Given the description of an element on the screen output the (x, y) to click on. 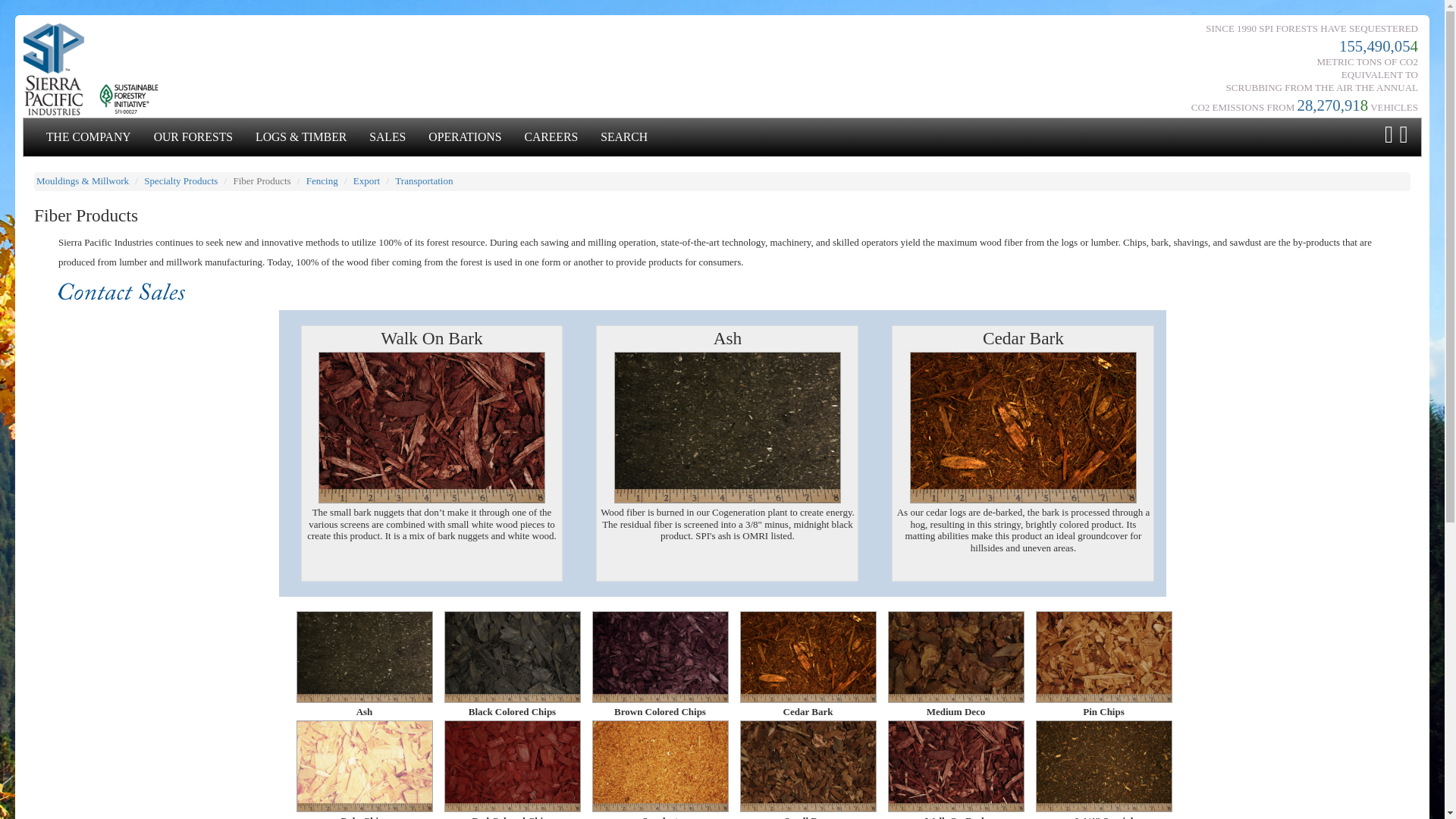
SALES (387, 136)
OUR FORESTS (193, 136)
THE COMPANY (88, 136)
